Given the description of an element on the screen output the (x, y) to click on. 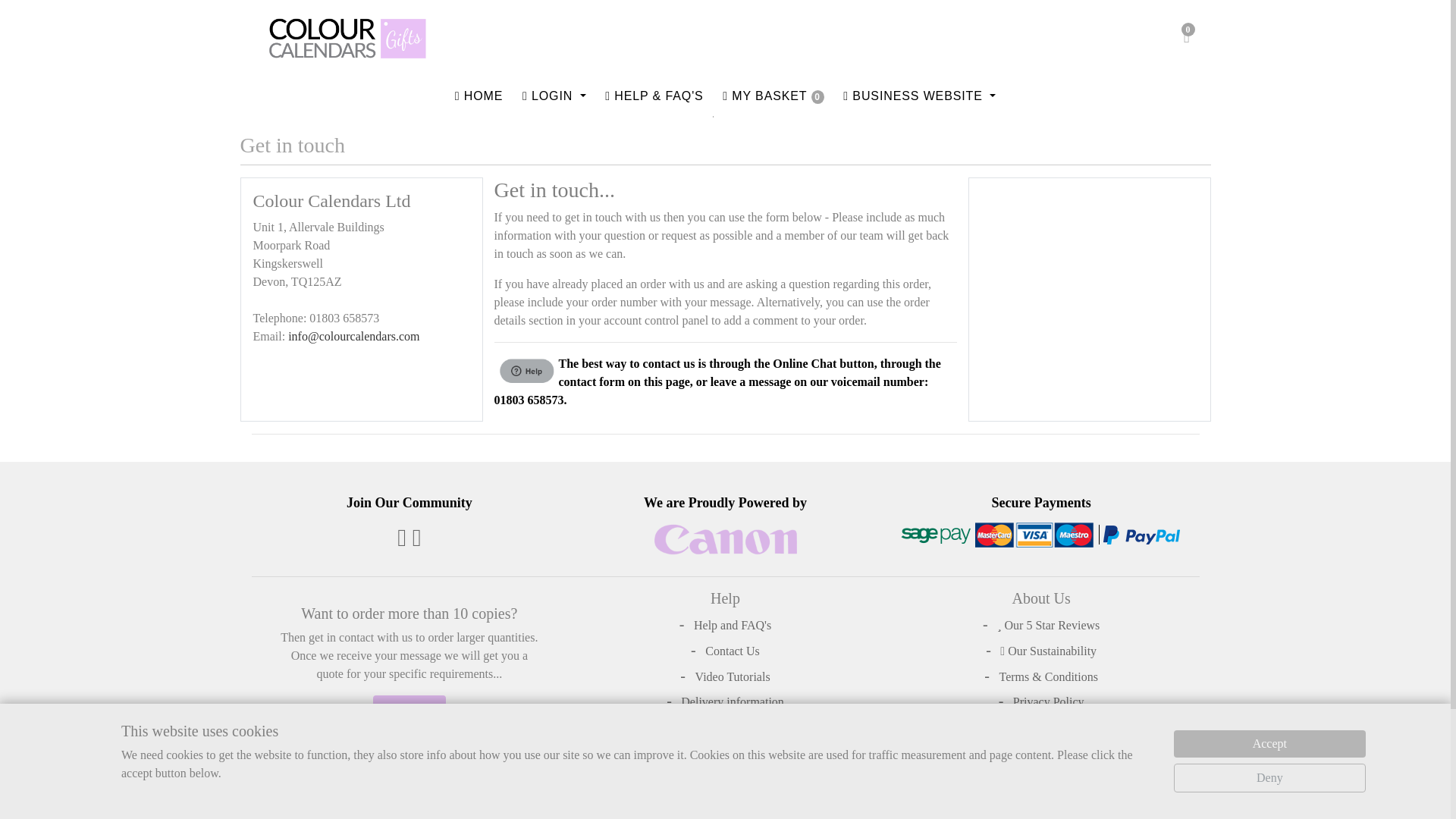
Our Sustainability (1040, 651)
Our 5 Star Reviews (1040, 626)
BUSINESS WEBSITE (920, 96)
Contact Us (725, 651)
Deny (1269, 777)
0 (1186, 37)
Contact Us (408, 708)
Login (553, 96)
Help and FAQ's (725, 626)
MY BASKET 0 (772, 96)
